Given the description of an element on the screen output the (x, y) to click on. 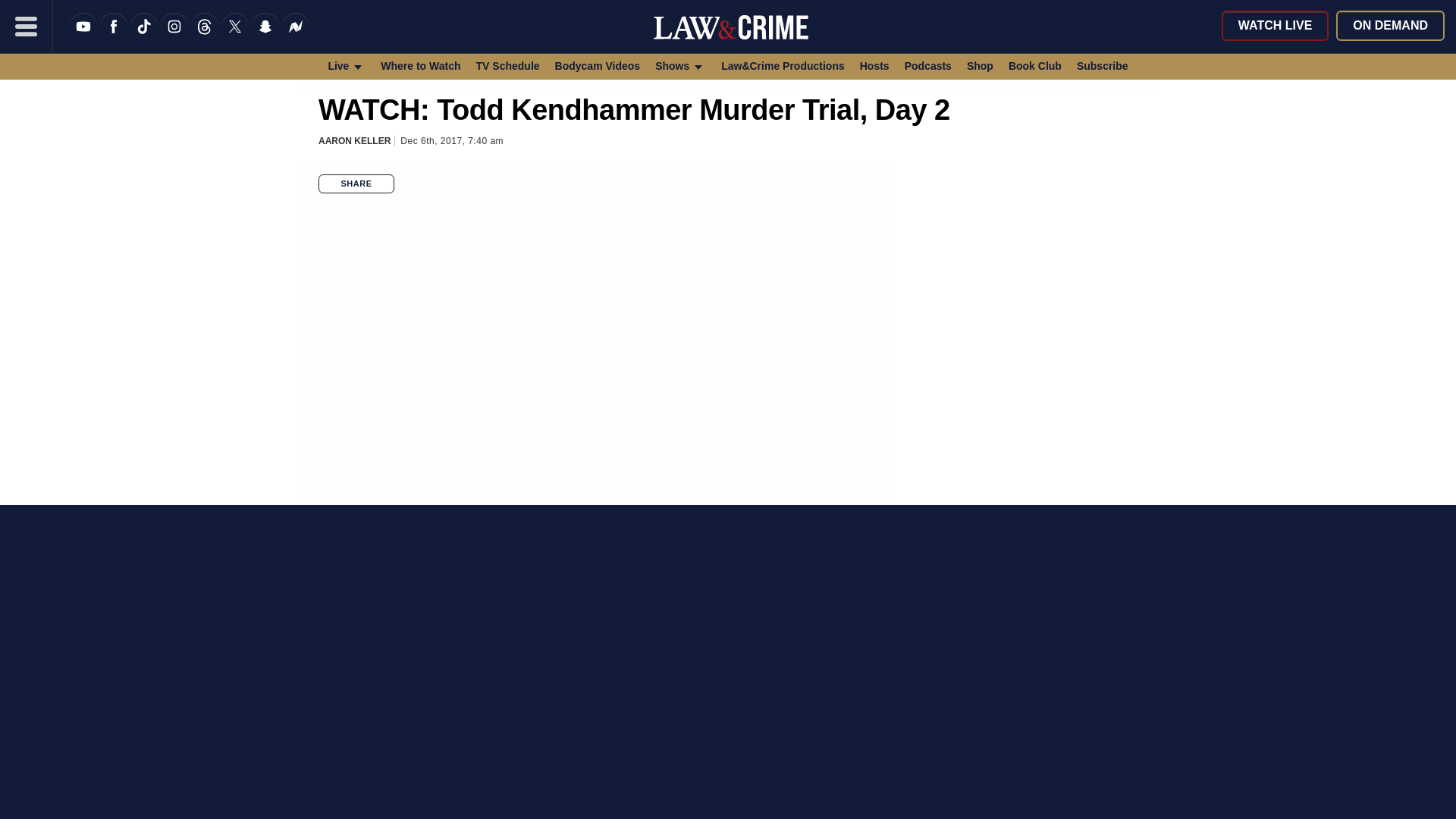
TikTok (144, 35)
YouTube (83, 35)
News Break (295, 35)
Snapchat (265, 35)
Like us on Facebook (114, 35)
Posts by Aaron Keller (354, 140)
Instagram (173, 35)
Threads (204, 35)
